Given the description of an element on the screen output the (x, y) to click on. 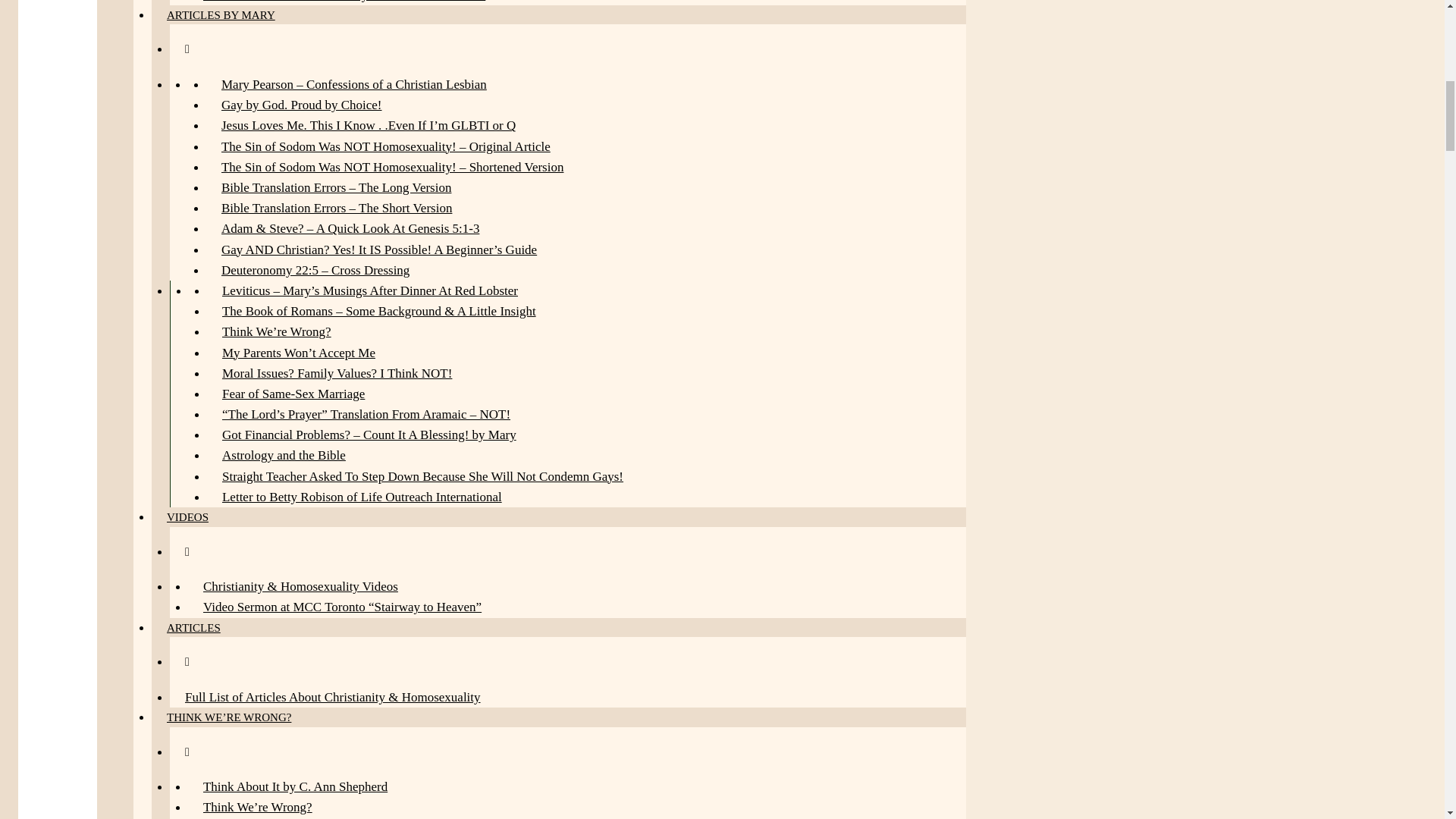
ARTICLES BY MARY (220, 18)
